Given the description of an element on the screen output the (x, y) to click on. 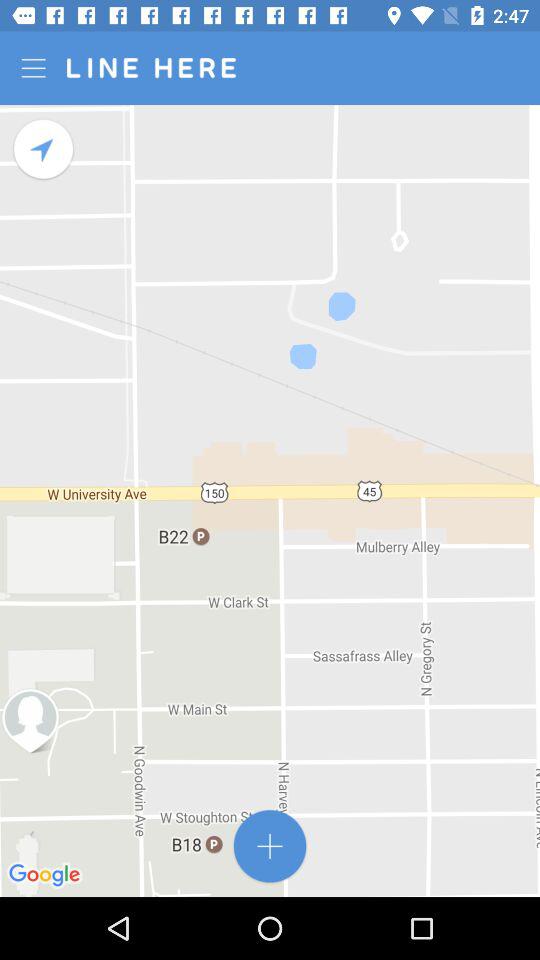
add location (269, 846)
